Given the description of an element on the screen output the (x, y) to click on. 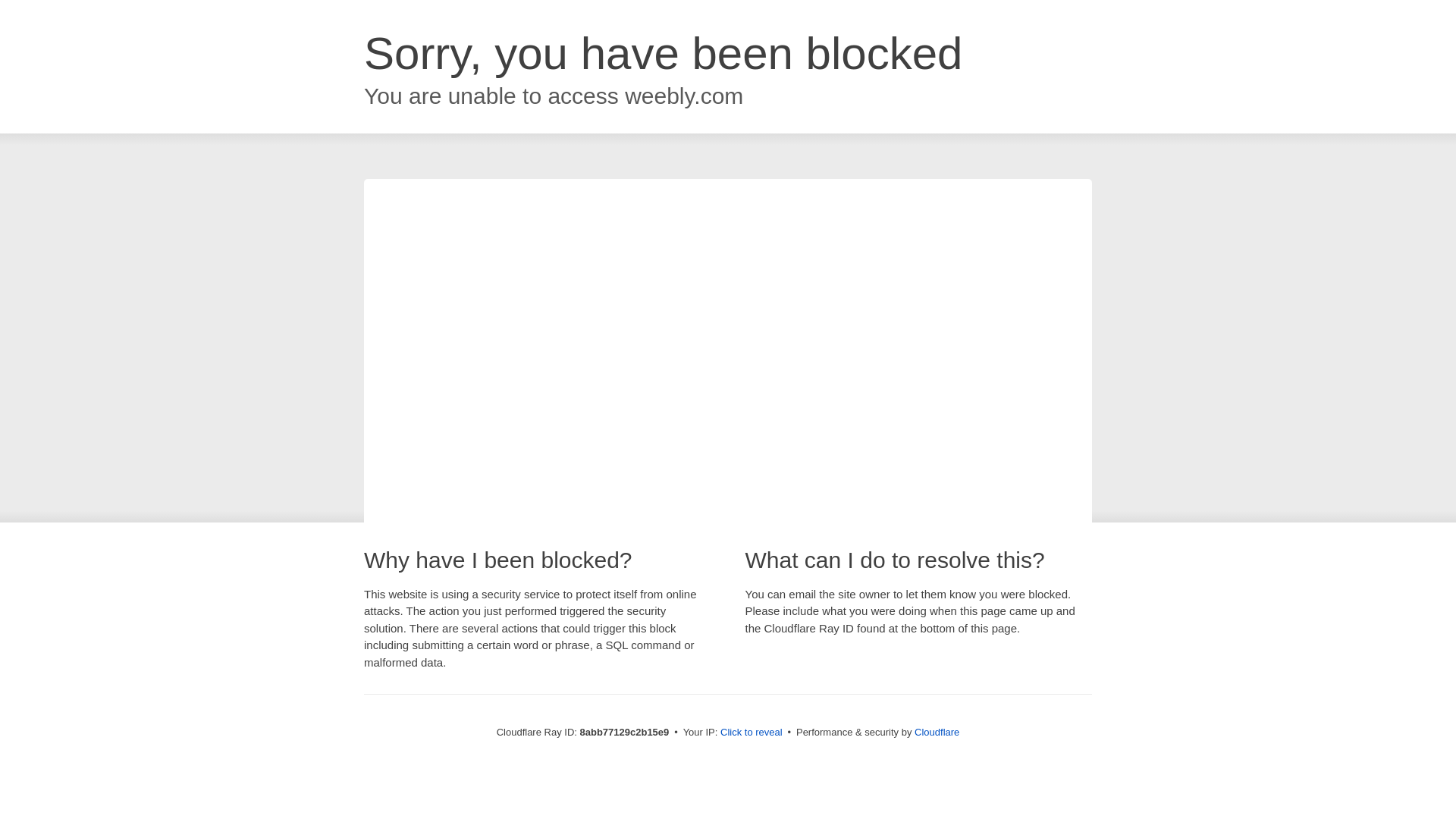
Click to reveal (751, 732)
Cloudflare (936, 731)
